Given the description of an element on the screen output the (x, y) to click on. 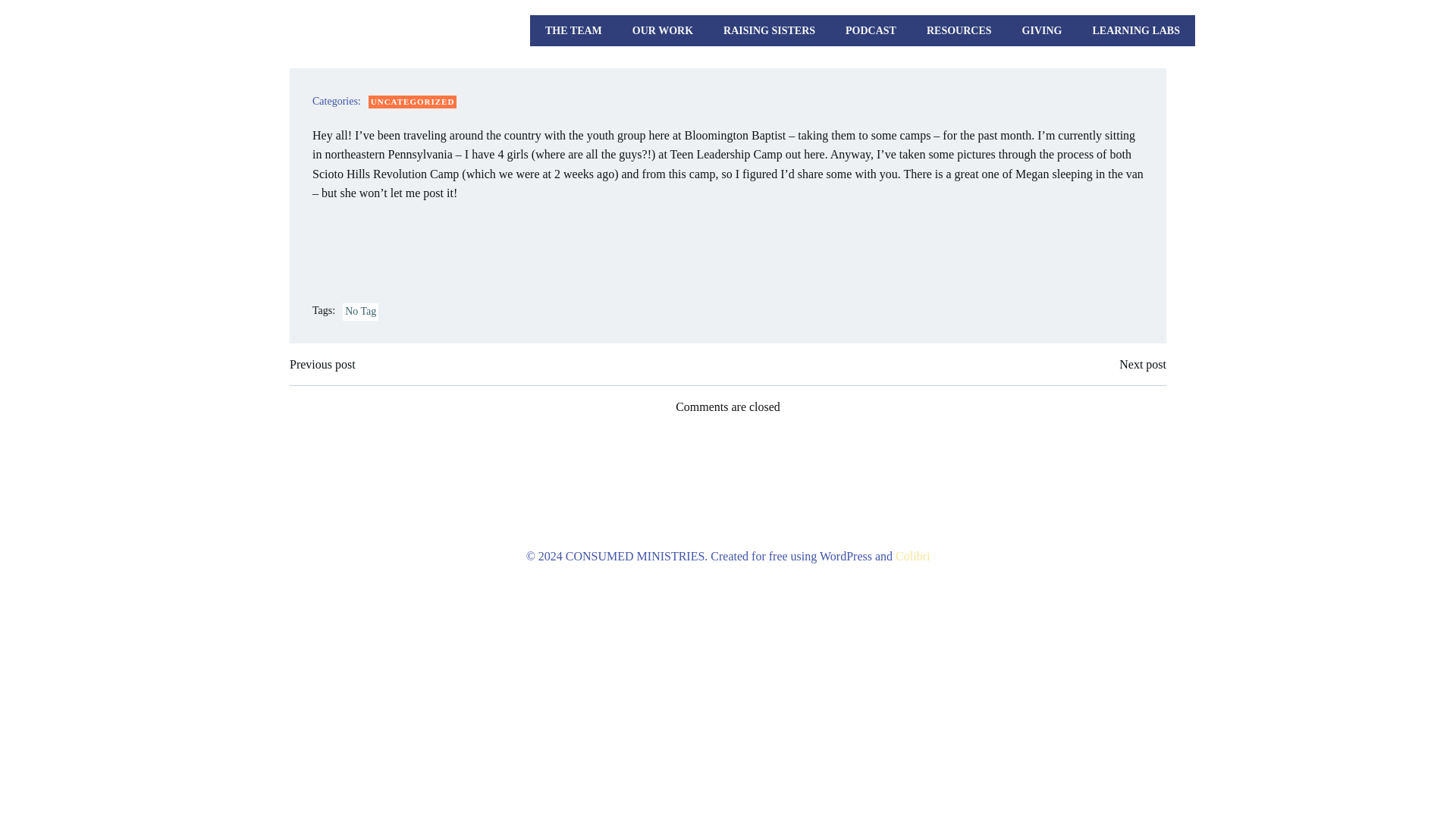
CONSUMED MINISTRIES (345, 30)
Previous post (322, 364)
LEARNING LABS (1135, 30)
THE TEAM (573, 30)
GIVING (1042, 30)
PODCAST (870, 30)
RAISING SISTERS (769, 30)
OUR WORK (662, 30)
UNCATEGORIZED (412, 101)
RESOURCES (958, 30)
